Given the description of an element on the screen output the (x, y) to click on. 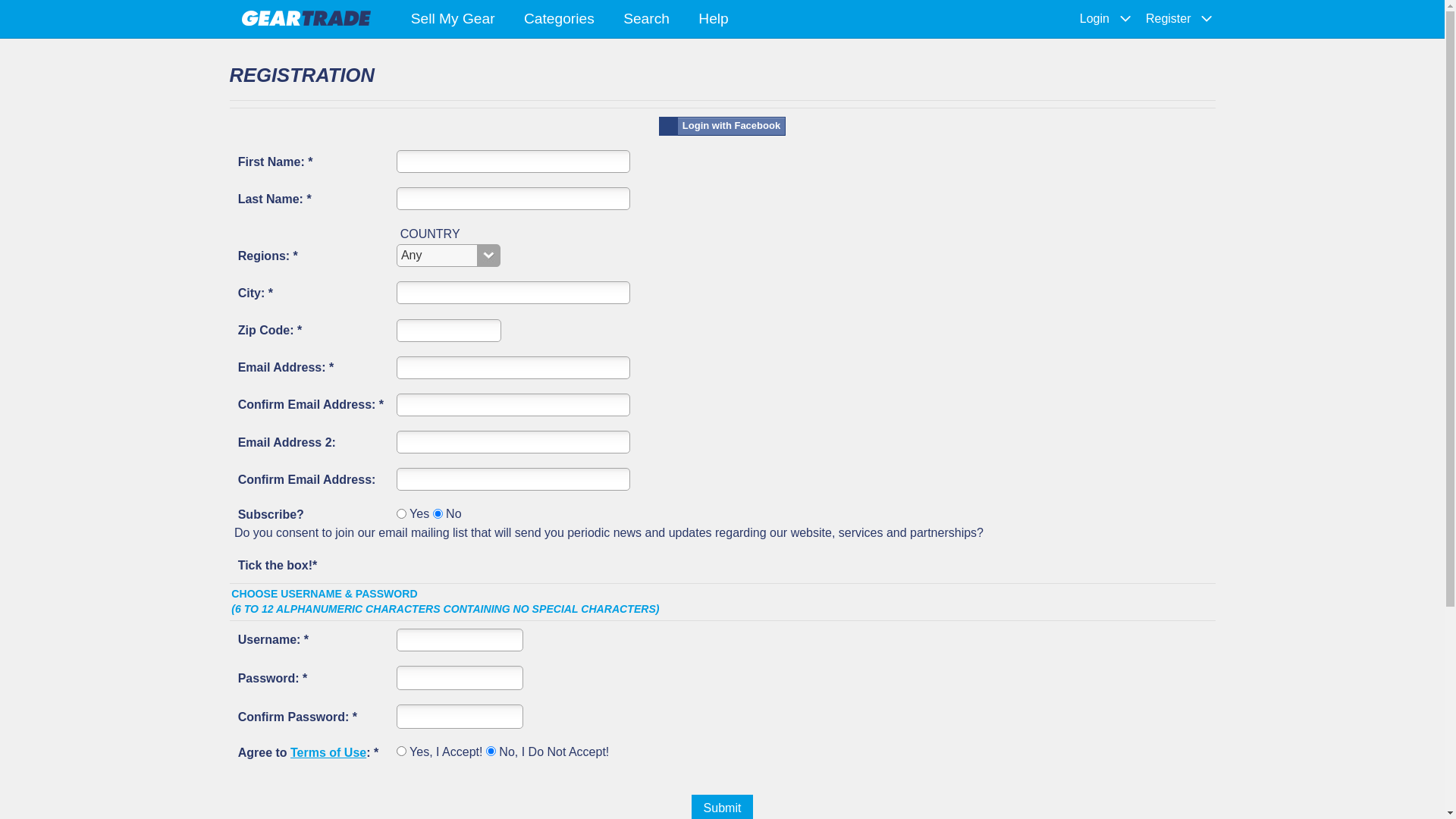
Search Element type: text (646, 19)
GearTrade Element type: hover (305, 16)
Login Element type: text (1094, 18)
Terms of Use Element type: text (328, 752)
Sell My Gear Element type: text (451, 19)
Help Element type: text (713, 19)
Login with Facebook Element type: text (722, 126)
Register Element type: text (1168, 18)
